Given the description of an element on the screen output the (x, y) to click on. 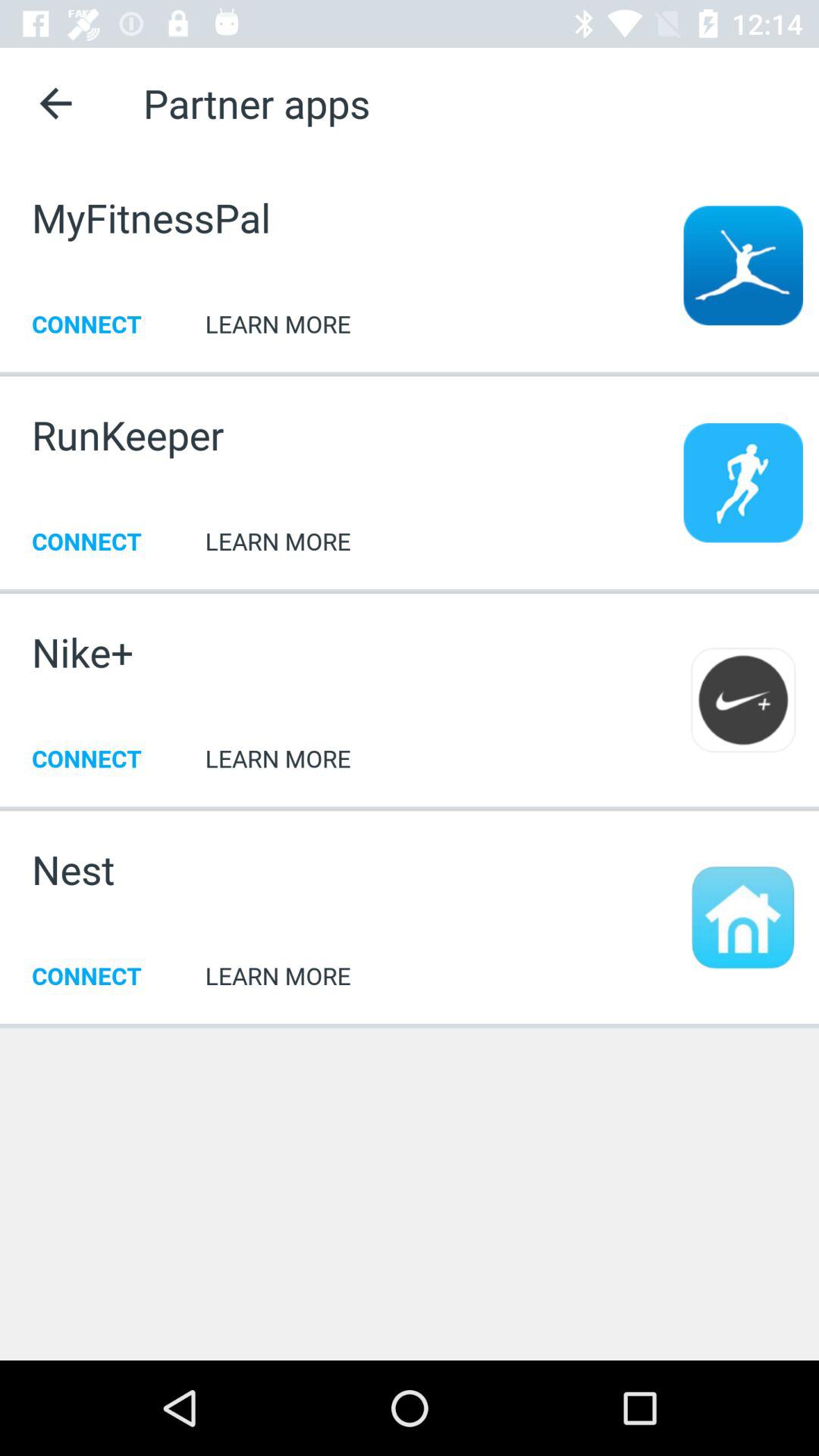
turn off the item below connect item (409, 1024)
